Given the description of an element on the screen output the (x, y) to click on. 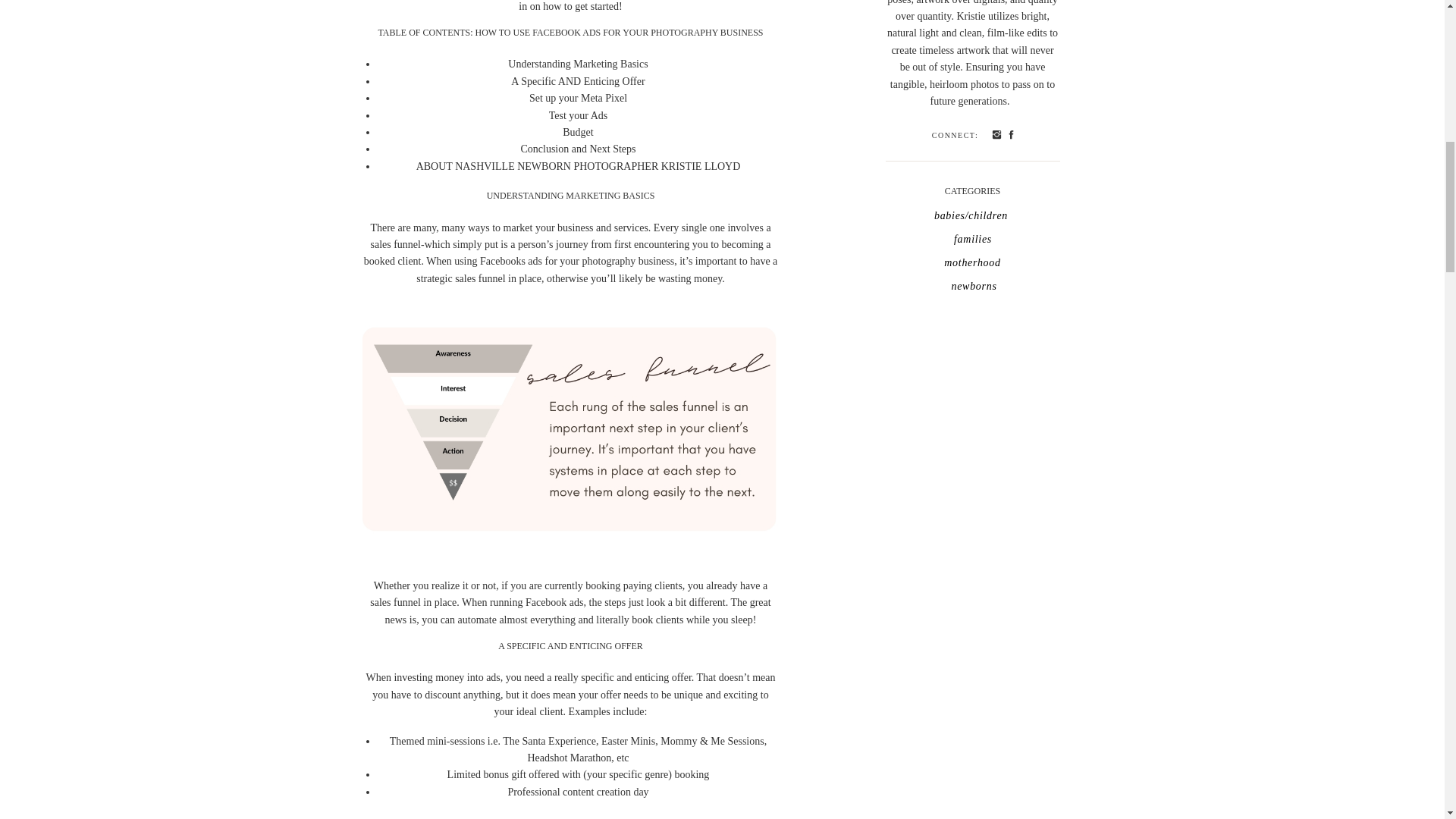
Set up your Meta Pixel (578, 98)
Budget (577, 132)
ABOUT NASHVILLE NEWBORN PHOTOGRAPHER KRISTIE LLOYD (578, 165)
Understanding Marketing Basics (577, 63)
Conclusion and Next Steps (576, 148)
A Specific AND Enticing Offer (578, 81)
Test your Ads (578, 115)
CONNECT: (954, 135)
